Given the description of an element on the screen output the (x, y) to click on. 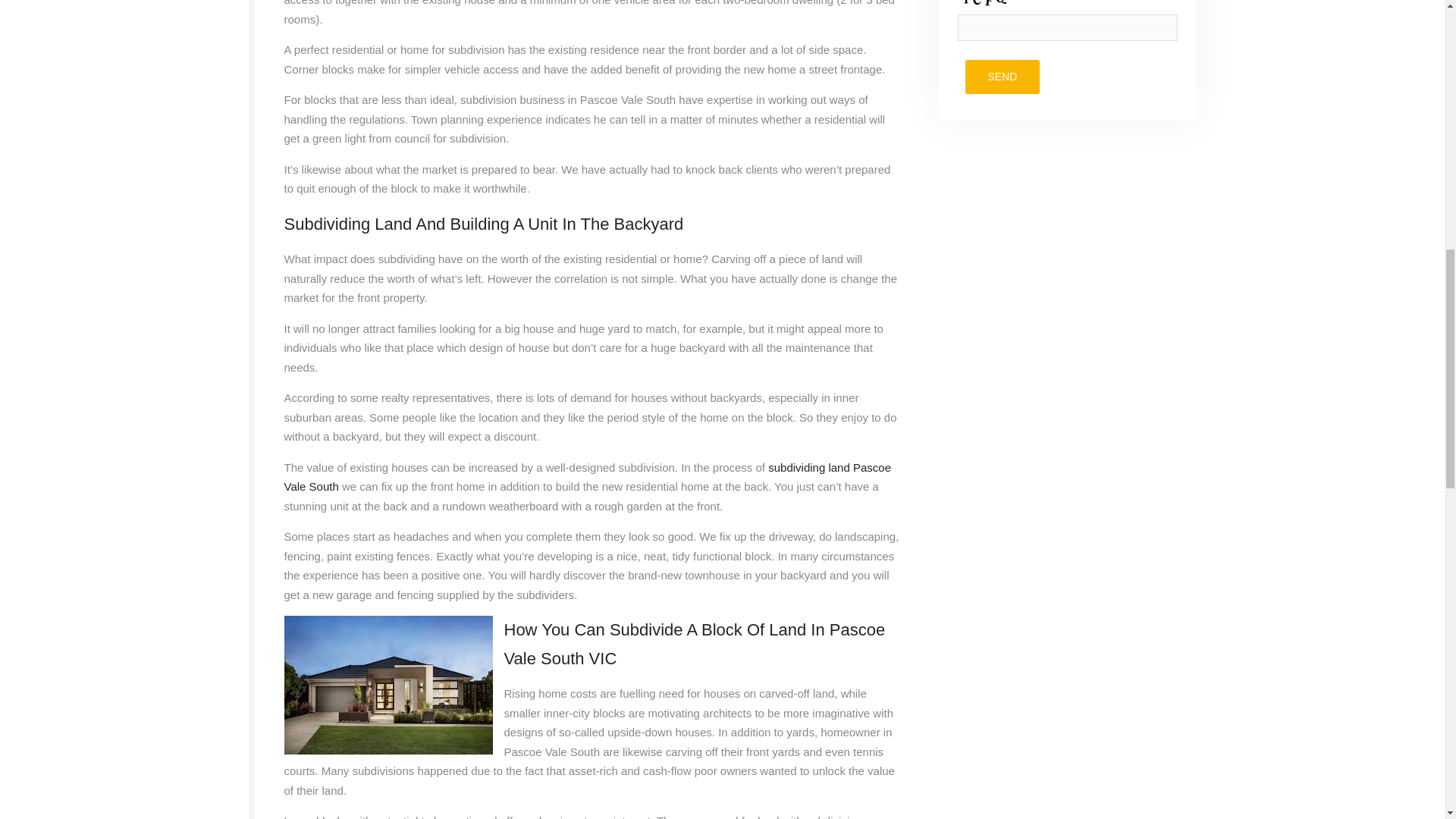
Send (1001, 76)
Send (1001, 76)
subdividing land Pascoe Vale South (587, 477)
